Given the description of an element on the screen output the (x, y) to click on. 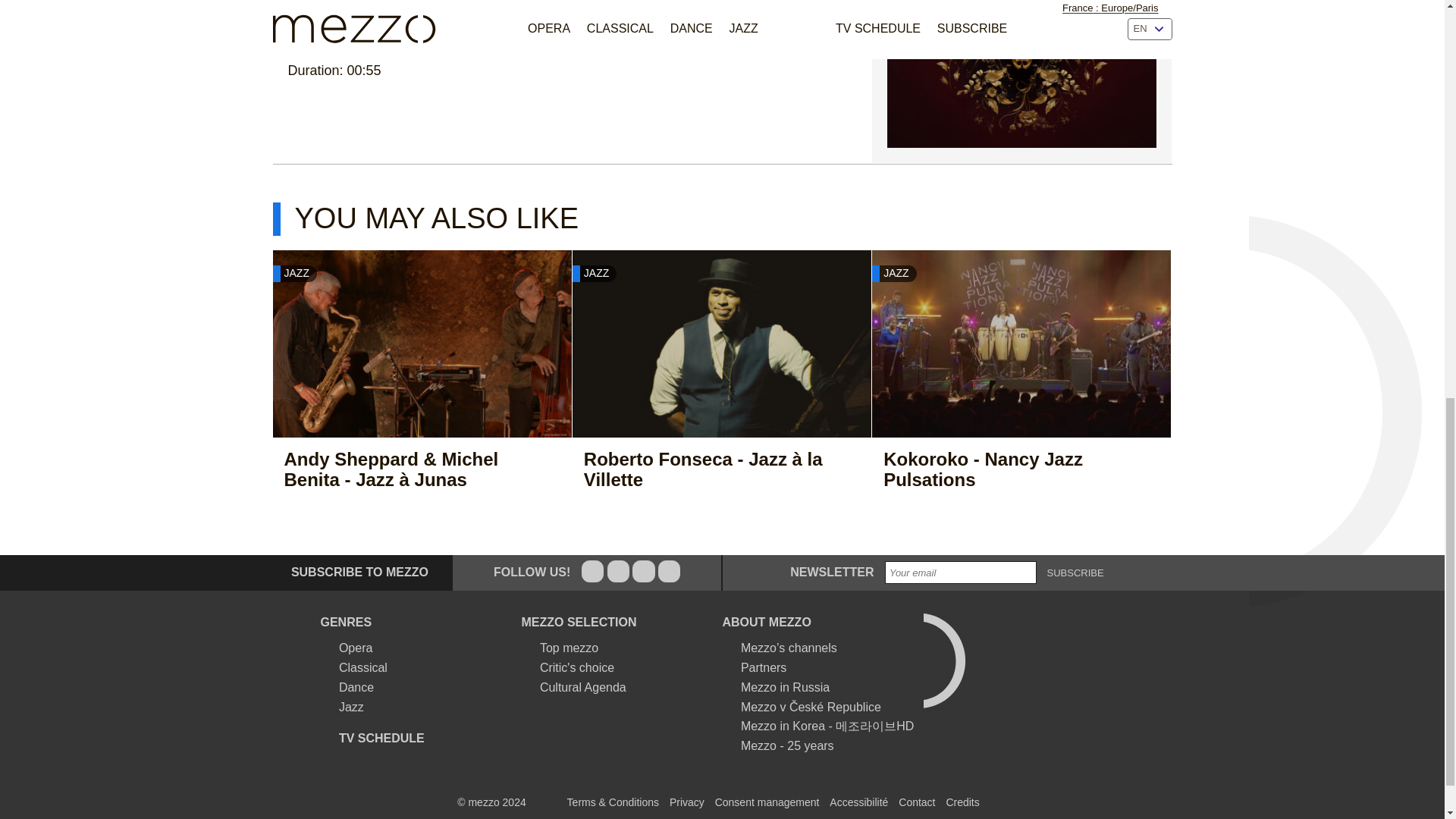
TV SCHEDULE (371, 738)
on Twitter (617, 571)
Kokoroko - Nancy Jazz Pulsations (1006, 469)
on Youtube (668, 571)
Dance (347, 687)
Partners (754, 668)
On Facebook (592, 571)
on Instagram (642, 571)
Classical (353, 668)
Jazz (341, 706)
